Given the description of an element on the screen output the (x, y) to click on. 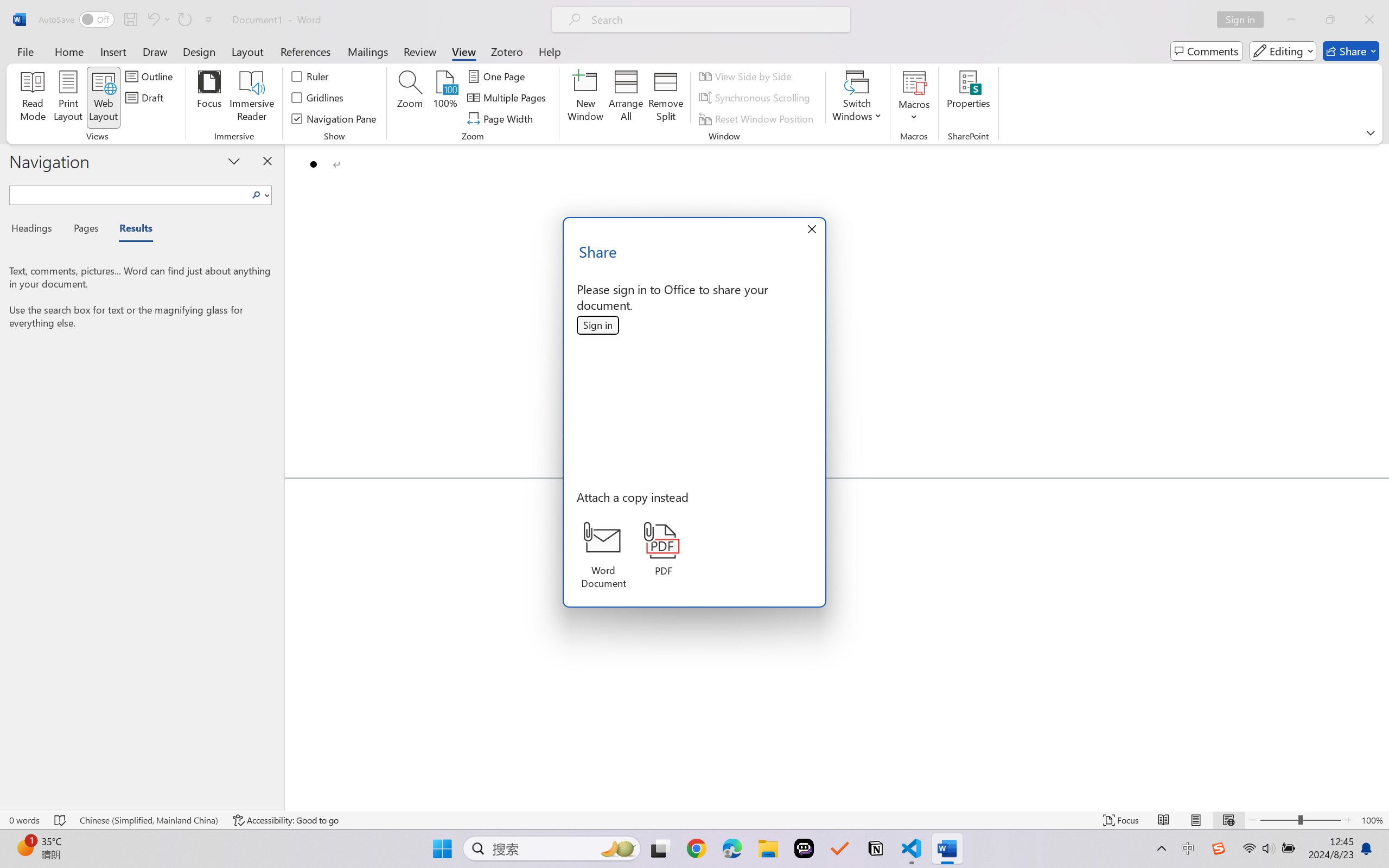
100% (445, 97)
New Window (585, 97)
Reset Window Position (757, 118)
Zoom... (409, 97)
